Given the description of an element on the screen output the (x, y) to click on. 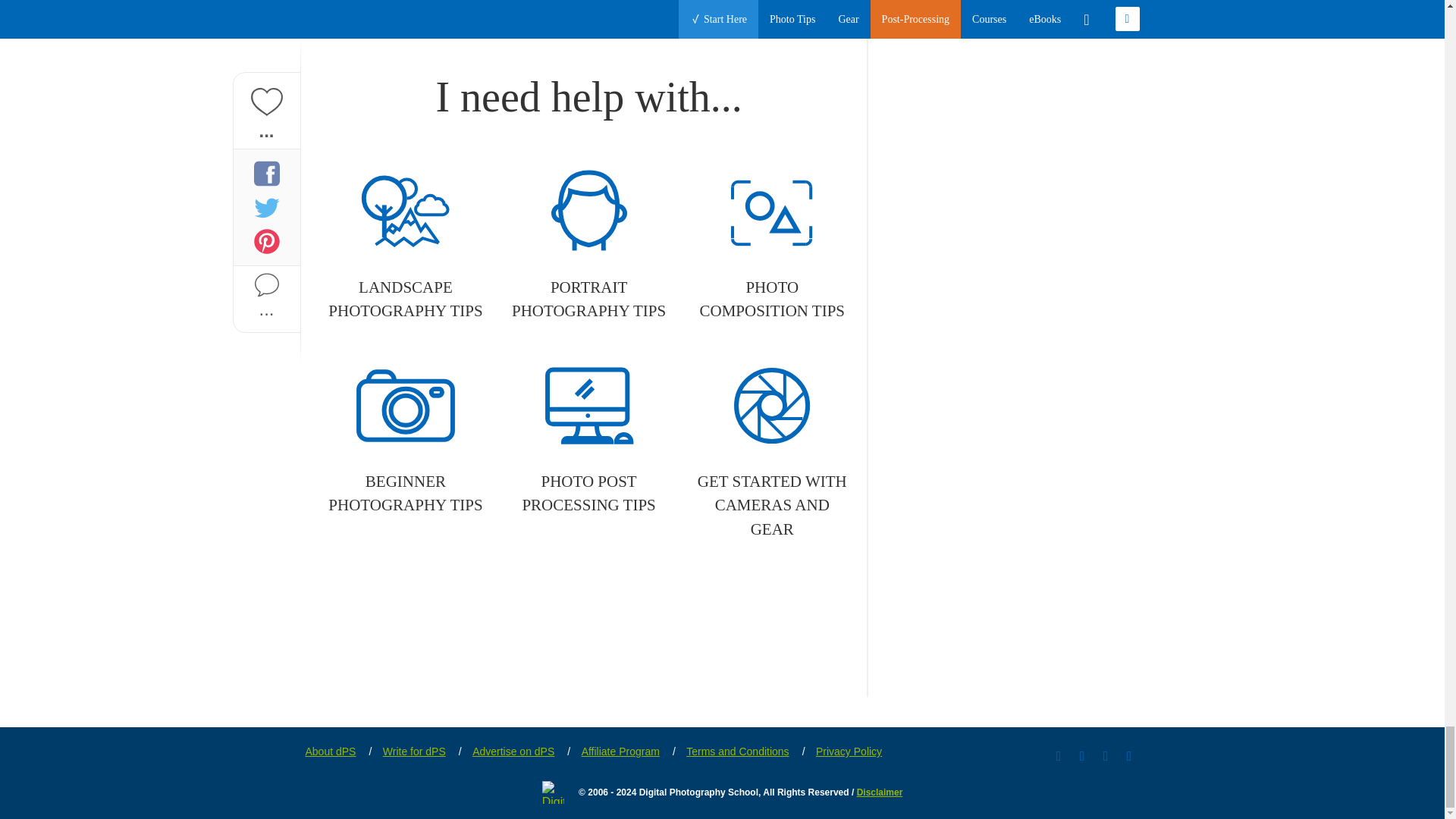
Photo Composition Tips (771, 245)
Beginner Photography Tips (405, 439)
Landscape Photography Tips (405, 245)
Photo Post Processing Tips (588, 439)
Portrait Photography Tips (588, 245)
